Given the description of an element on the screen output the (x, y) to click on. 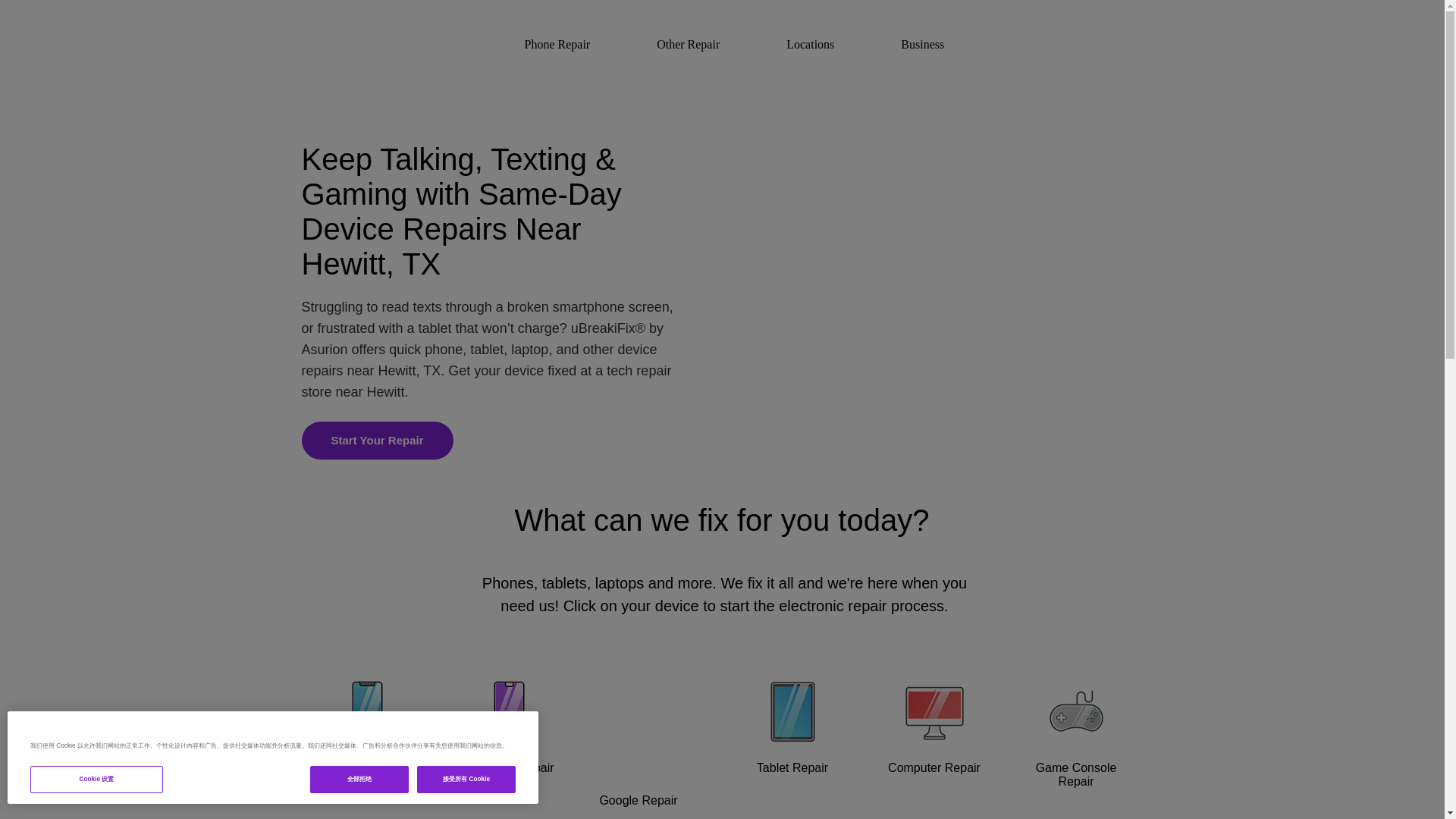
iPhone Repair (365, 743)
Tablet Repair (792, 743)
Phone Repair (554, 41)
Computer Repair (933, 743)
Business (919, 41)
Start Your Repair (376, 440)
UBREAKIFIX (368, 41)
Locations (806, 41)
Game Console Repair (1076, 742)
Other Repair (684, 41)
